Given the description of an element on the screen output the (x, y) to click on. 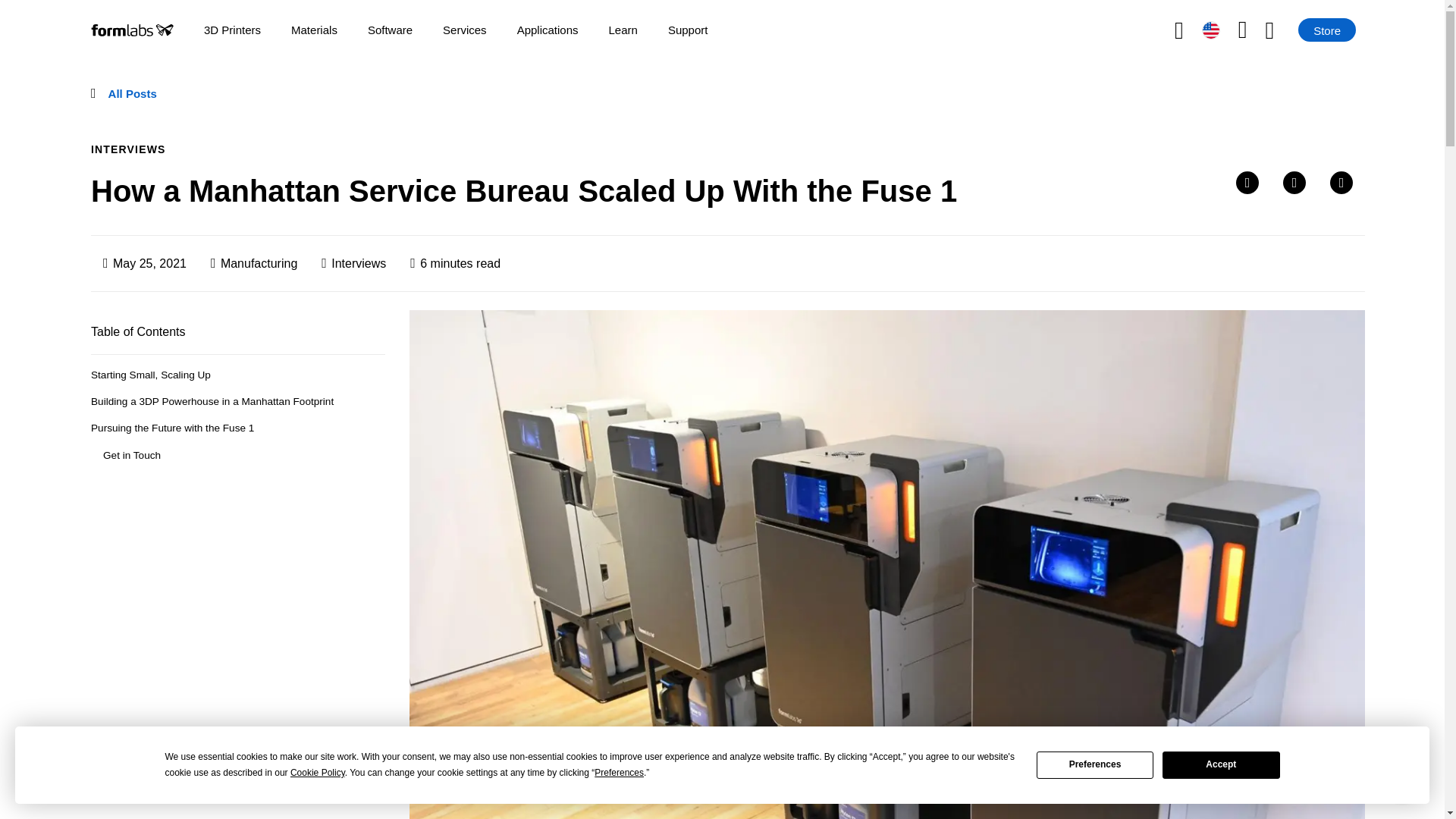
Store (1326, 29)
Materials (314, 29)
Services (464, 29)
3D Printers (231, 29)
Applications (547, 29)
Software (390, 29)
Preferences (1094, 764)
Support (687, 29)
Cart (1281, 30)
Store (1326, 29)
Learn (622, 29)
Accept (1220, 764)
